Given the description of an element on the screen output the (x, y) to click on. 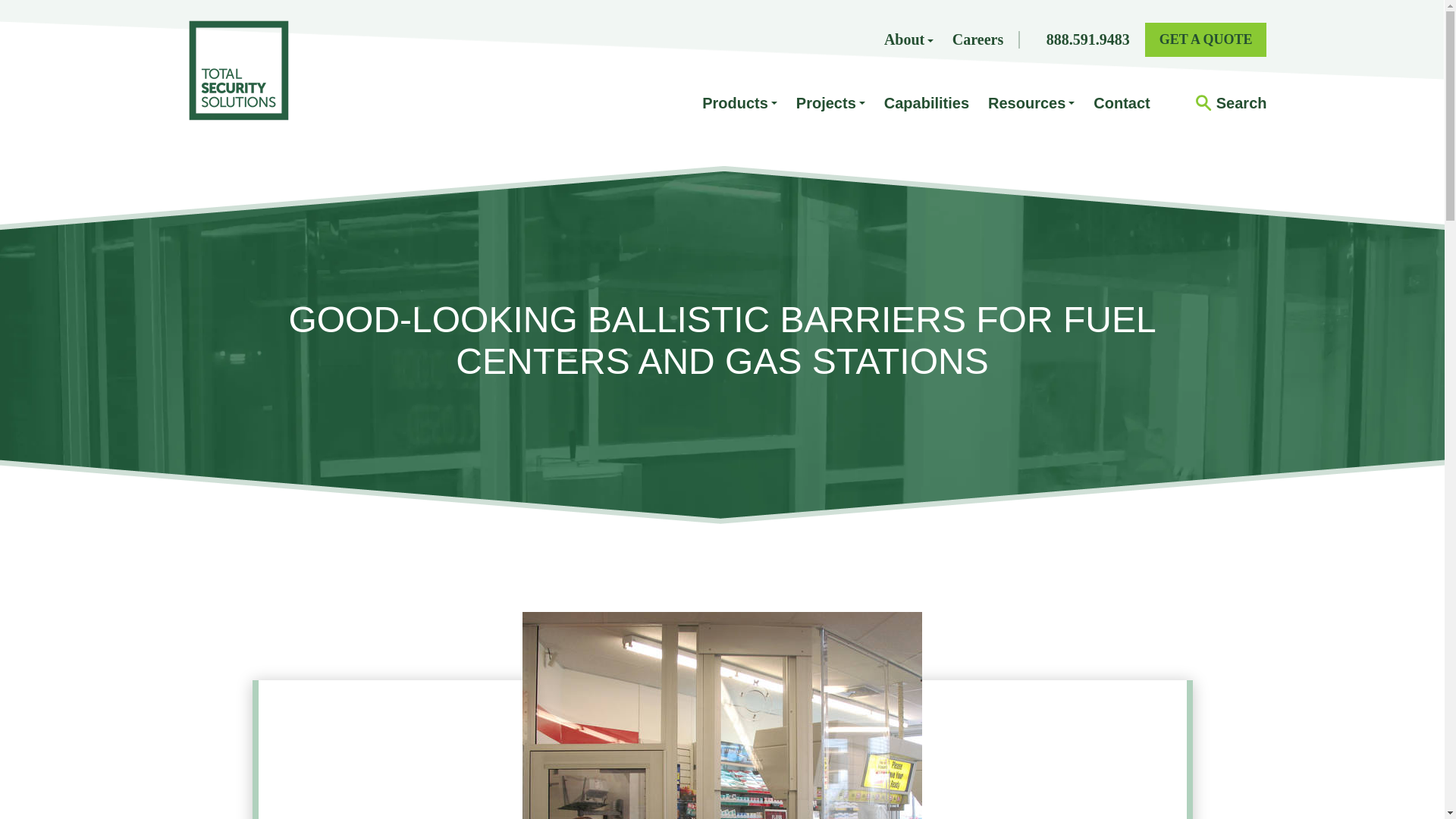
About (908, 39)
Products (739, 103)
Careers (977, 39)
888.591.9483 (1087, 39)
GET A QUOTE (1205, 39)
